Given the description of an element on the screen output the (x, y) to click on. 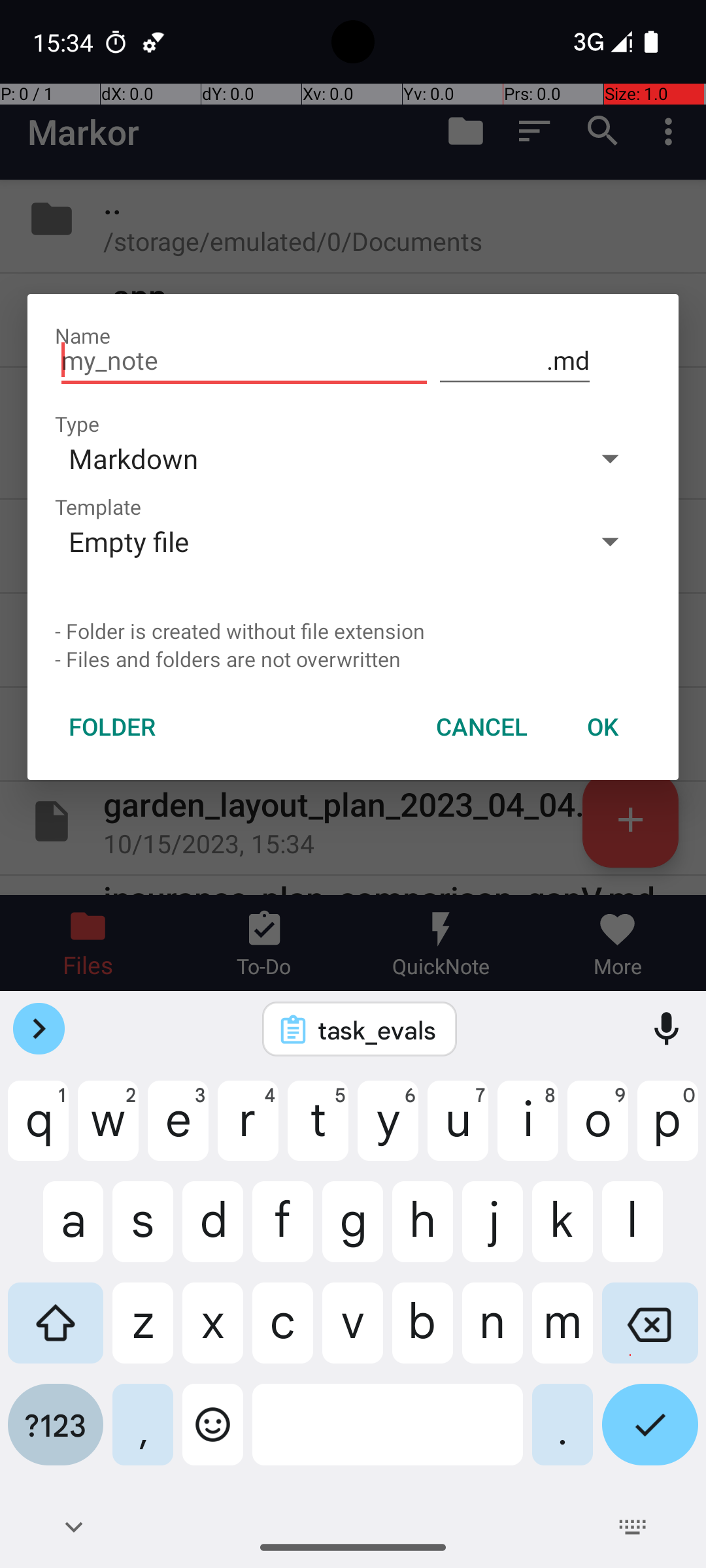
task_evals Element type: android.widget.TextView (376, 1029)
